Given the description of an element on the screen output the (x, y) to click on. 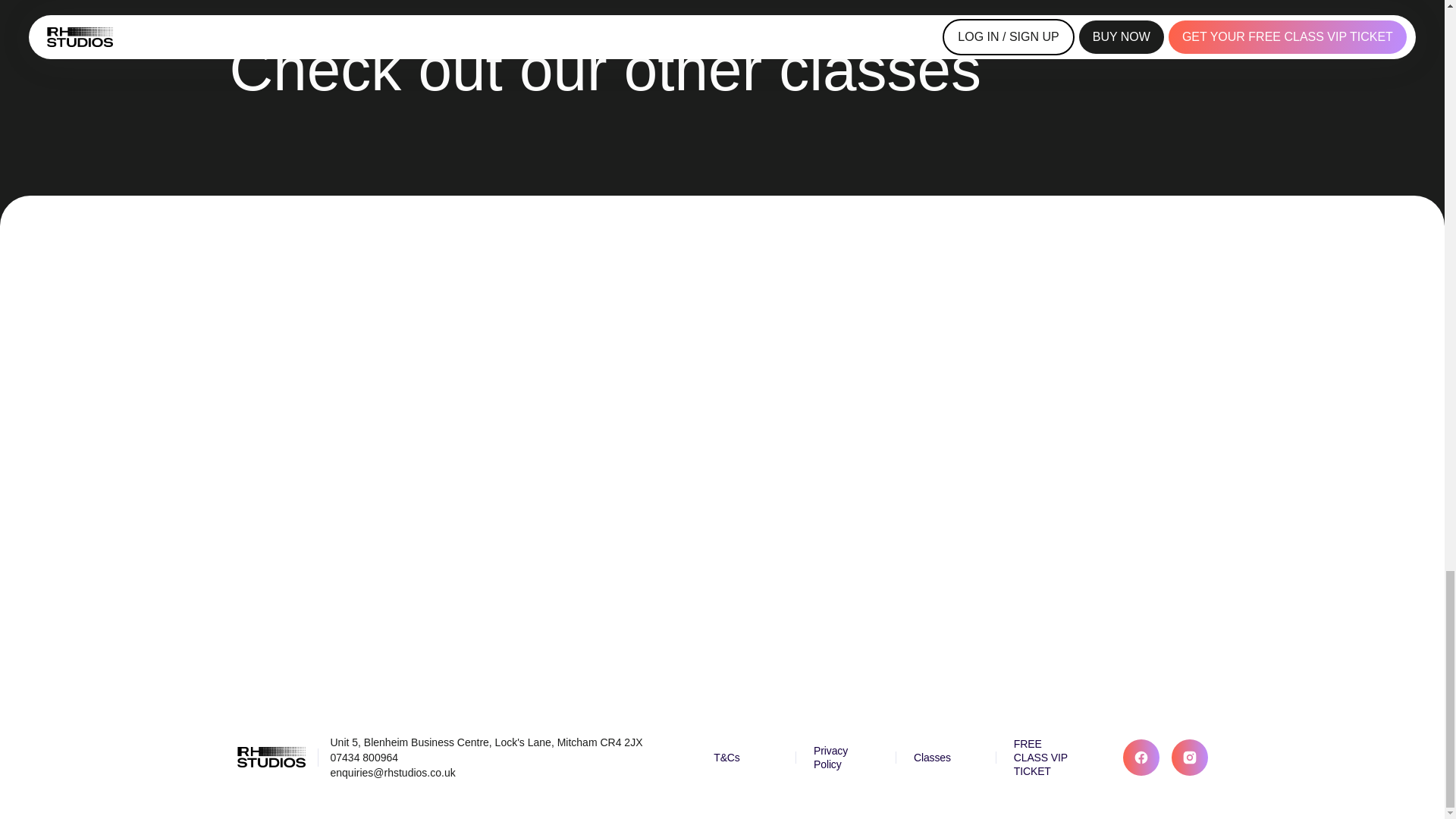
FREE CLASS VIP TICKET (1045, 757)
Check out our other classes (721, 69)
Privacy Policy (845, 757)
Classes (945, 757)
